Given the description of an element on the screen output the (x, y) to click on. 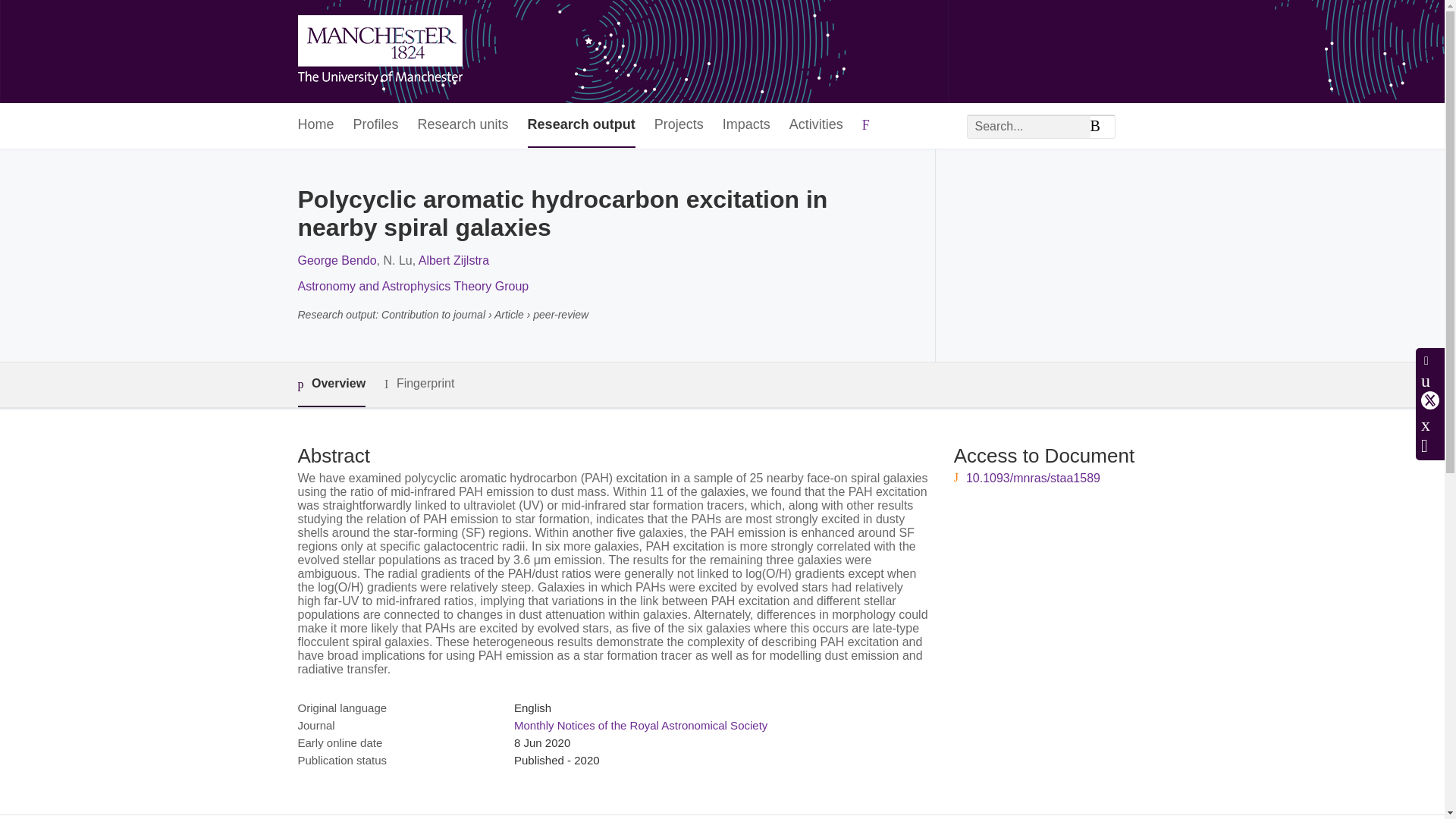
Activities (816, 125)
Fingerprint (419, 383)
Research Explorer The University of Manchester Home (379, 51)
Overview (331, 384)
Research units (462, 125)
Profiles (375, 125)
Albert Zijlstra (454, 259)
George Bendo (336, 259)
Astronomy and Astrophysics Theory Group (412, 286)
Monthly Notices of the Royal Astronomical Society (640, 725)
Impacts (746, 125)
Research output (580, 125)
Projects (678, 125)
